Given the description of an element on the screen output the (x, y) to click on. 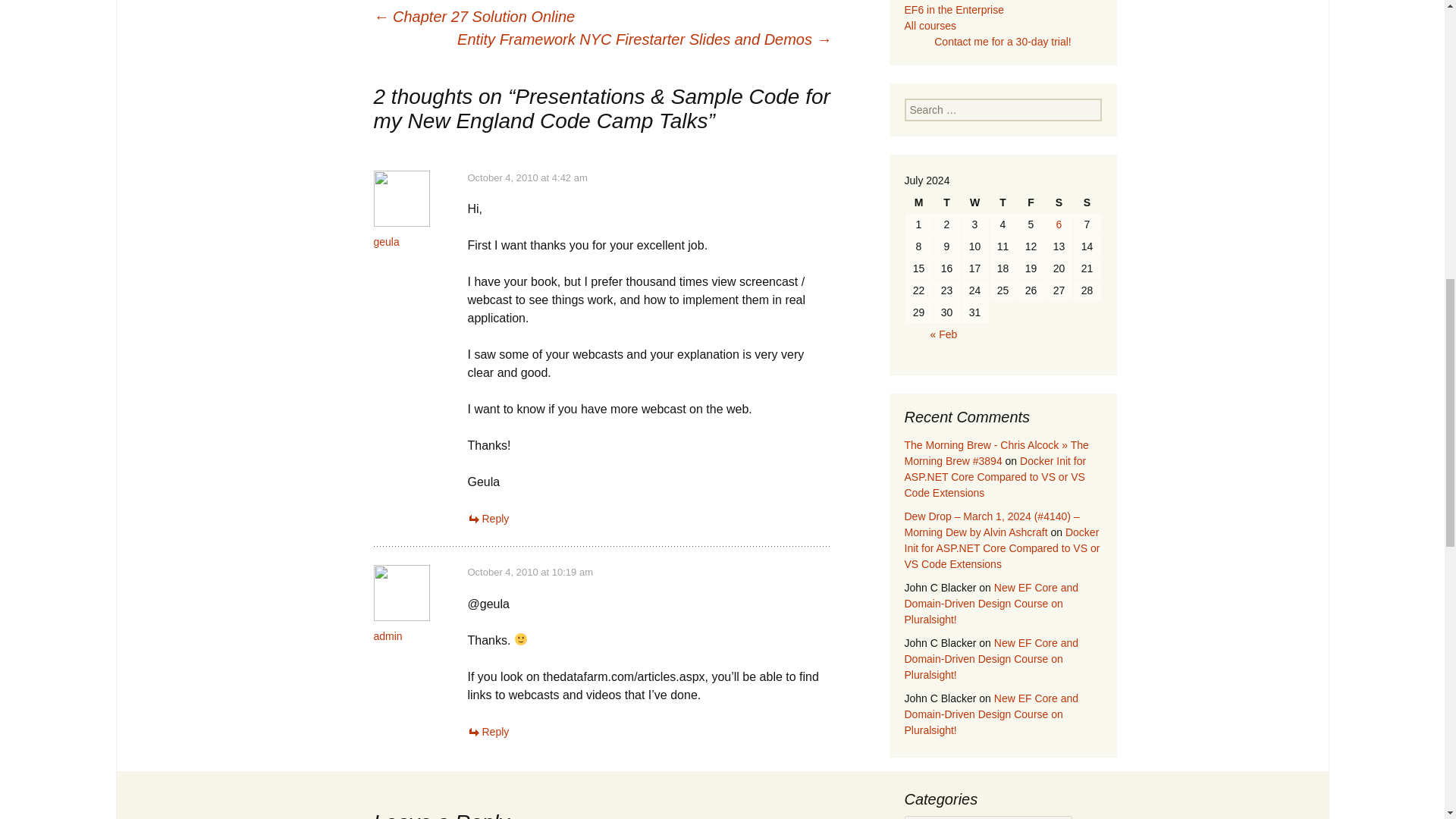
Friday (1031, 201)
Saturday (1058, 201)
Reply (487, 518)
Thursday (1002, 201)
Tuesday (946, 201)
Reply (487, 731)
October 4, 2010 at 4:42 am (526, 177)
Sunday (1087, 201)
October 4, 2010 at 10:19 am (529, 572)
Monday (919, 201)
admin (386, 635)
Wednesday (974, 201)
